Given the description of an element on the screen output the (x, y) to click on. 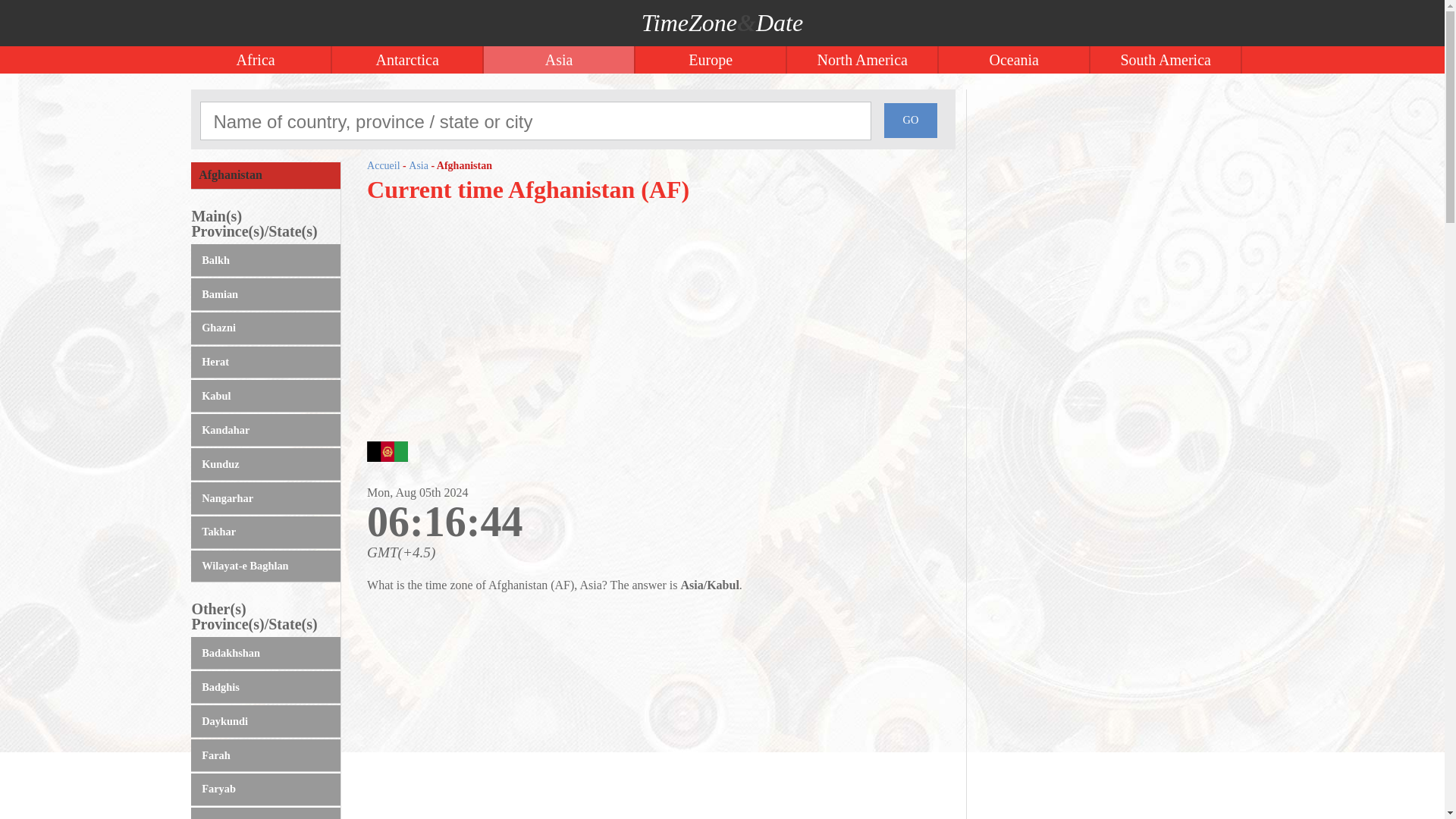
Takhar (264, 532)
Afghanistan (264, 176)
Bamian (264, 294)
GO (910, 120)
Ghazni (264, 328)
Antarctica (407, 59)
Badakhshan (264, 653)
Asia (558, 59)
Balkh (264, 260)
Ghowr (264, 813)
Nangarhar (264, 498)
South America (1165, 59)
Faryab (264, 789)
Kandahar (264, 430)
Africa (255, 59)
